Given the description of an element on the screen output the (x, y) to click on. 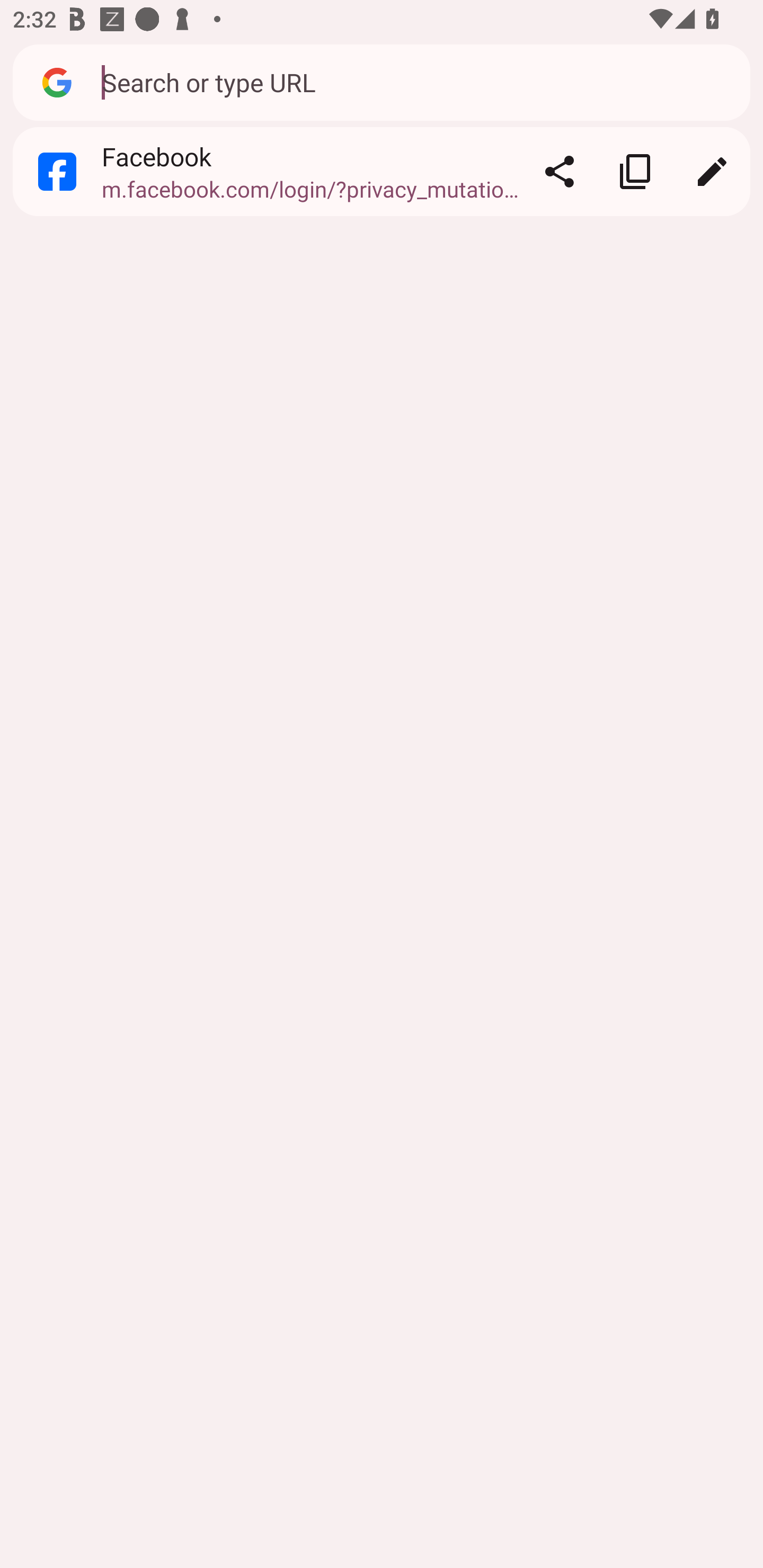
Search or type URL (415, 82)
Share… (559, 171)
Copy link (635, 171)
Edit (711, 171)
